Given the description of an element on the screen output the (x, y) to click on. 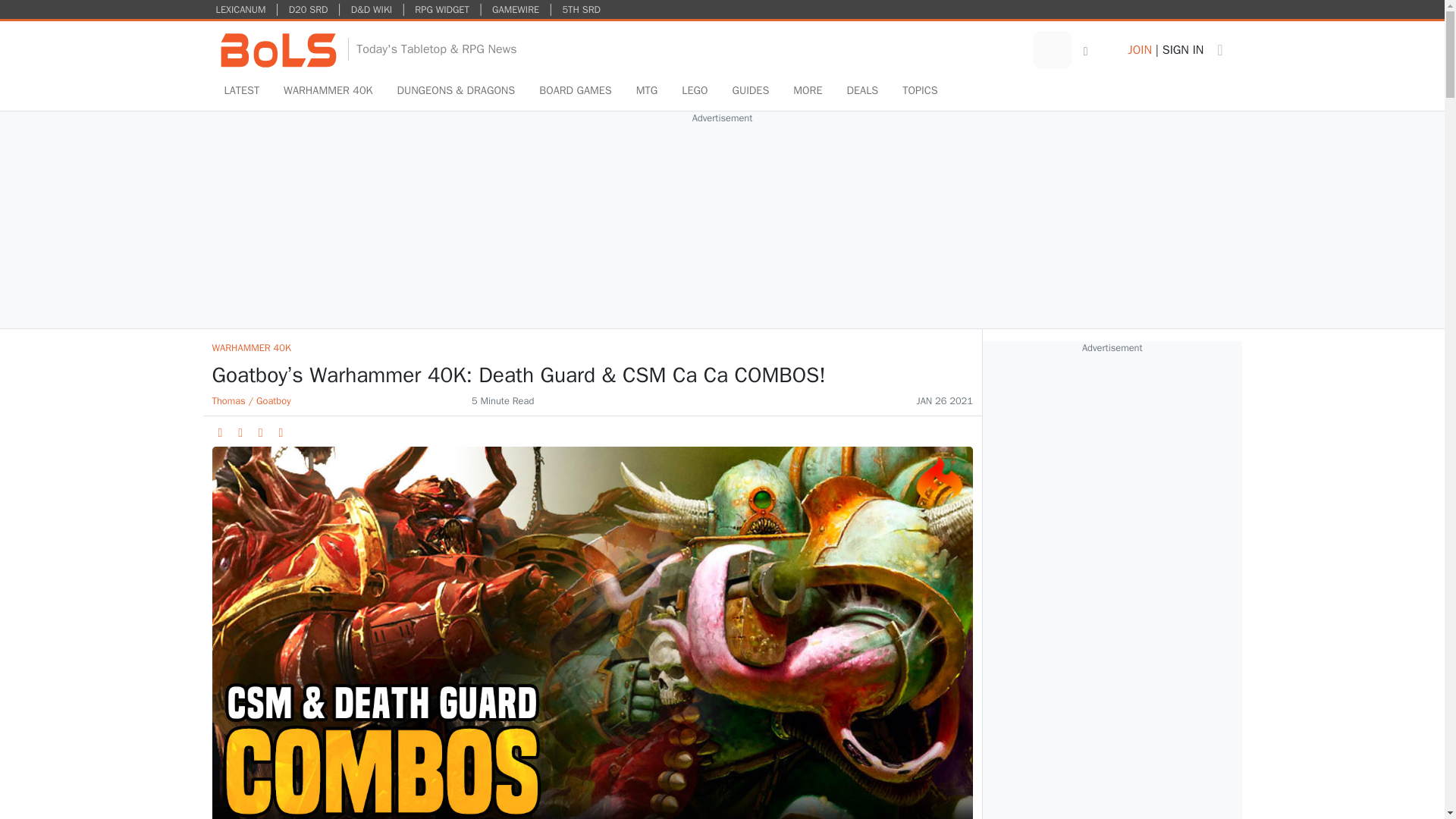
LATEST (242, 90)
Gamewire (515, 9)
GUIDES (749, 90)
LEXICANUM (240, 9)
DEALS (862, 90)
Latest (242, 90)
JOIN (1138, 49)
LEGO (694, 90)
Warhammer 40k (327, 90)
5th SRD (580, 9)
